Given the description of an element on the screen output the (x, y) to click on. 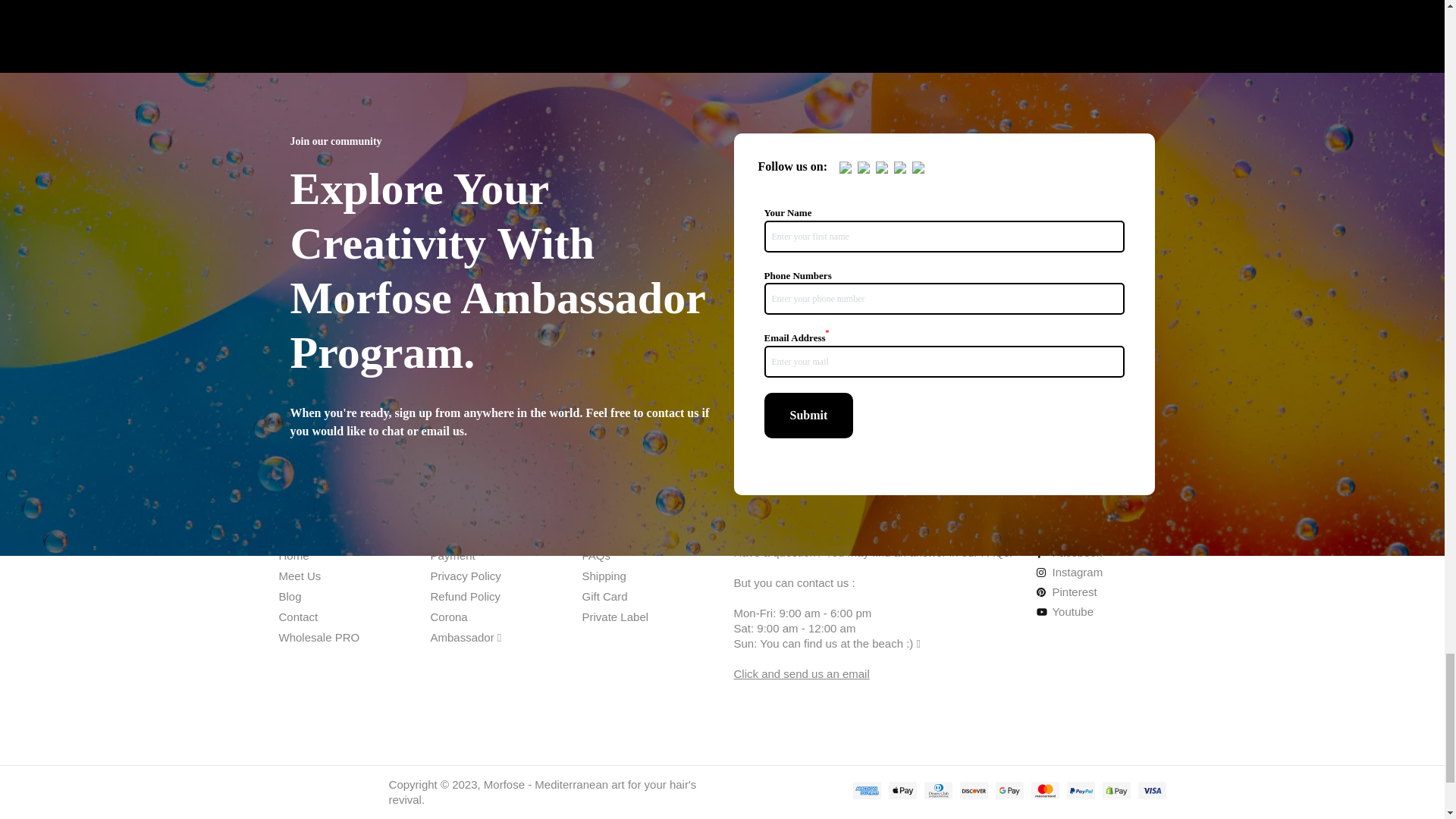
Submit (808, 415)
